Given the description of an element on the screen output the (x, y) to click on. 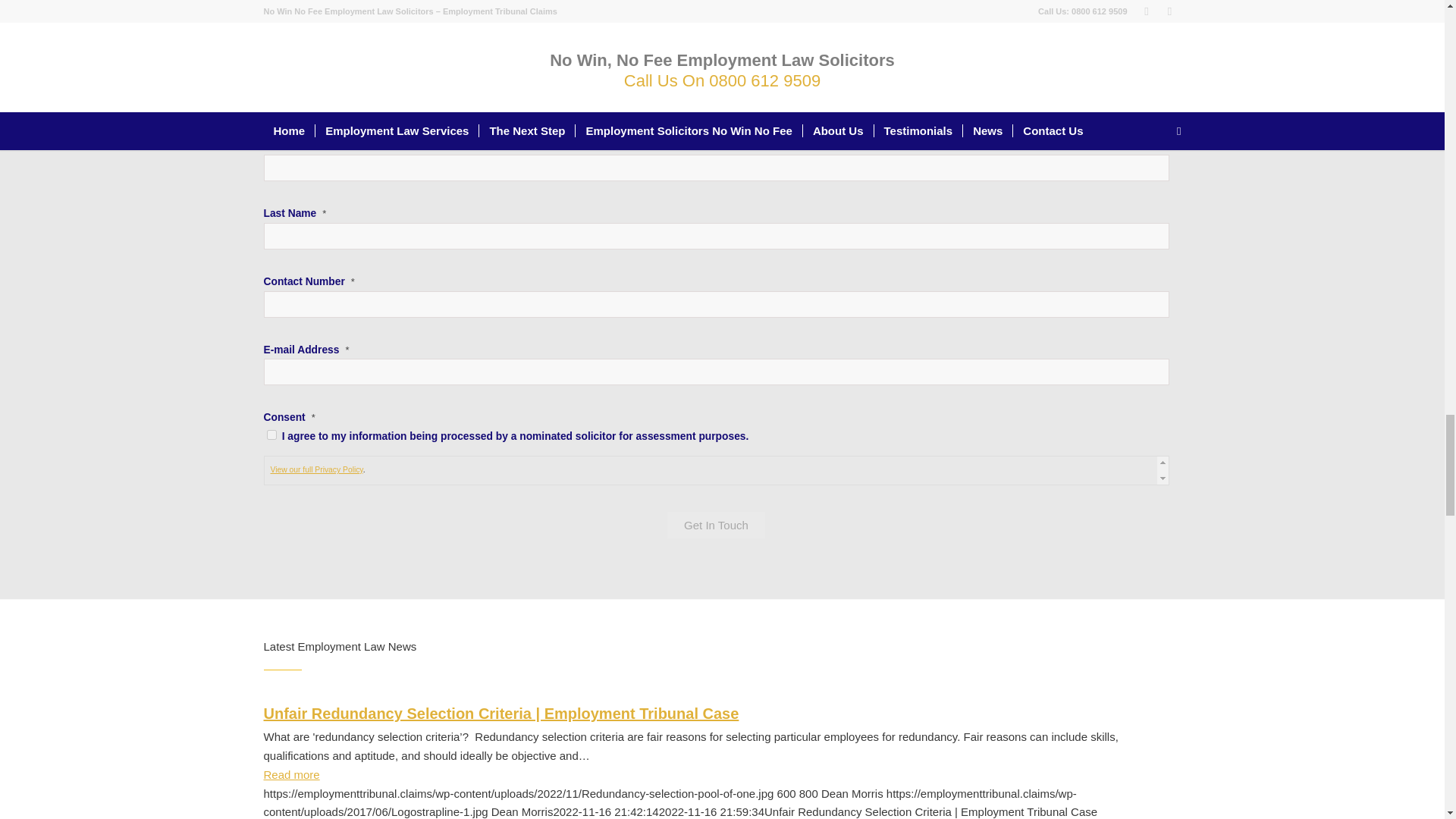
Get In Touch (715, 524)
1 (271, 434)
